Given the description of an element on the screen output the (x, y) to click on. 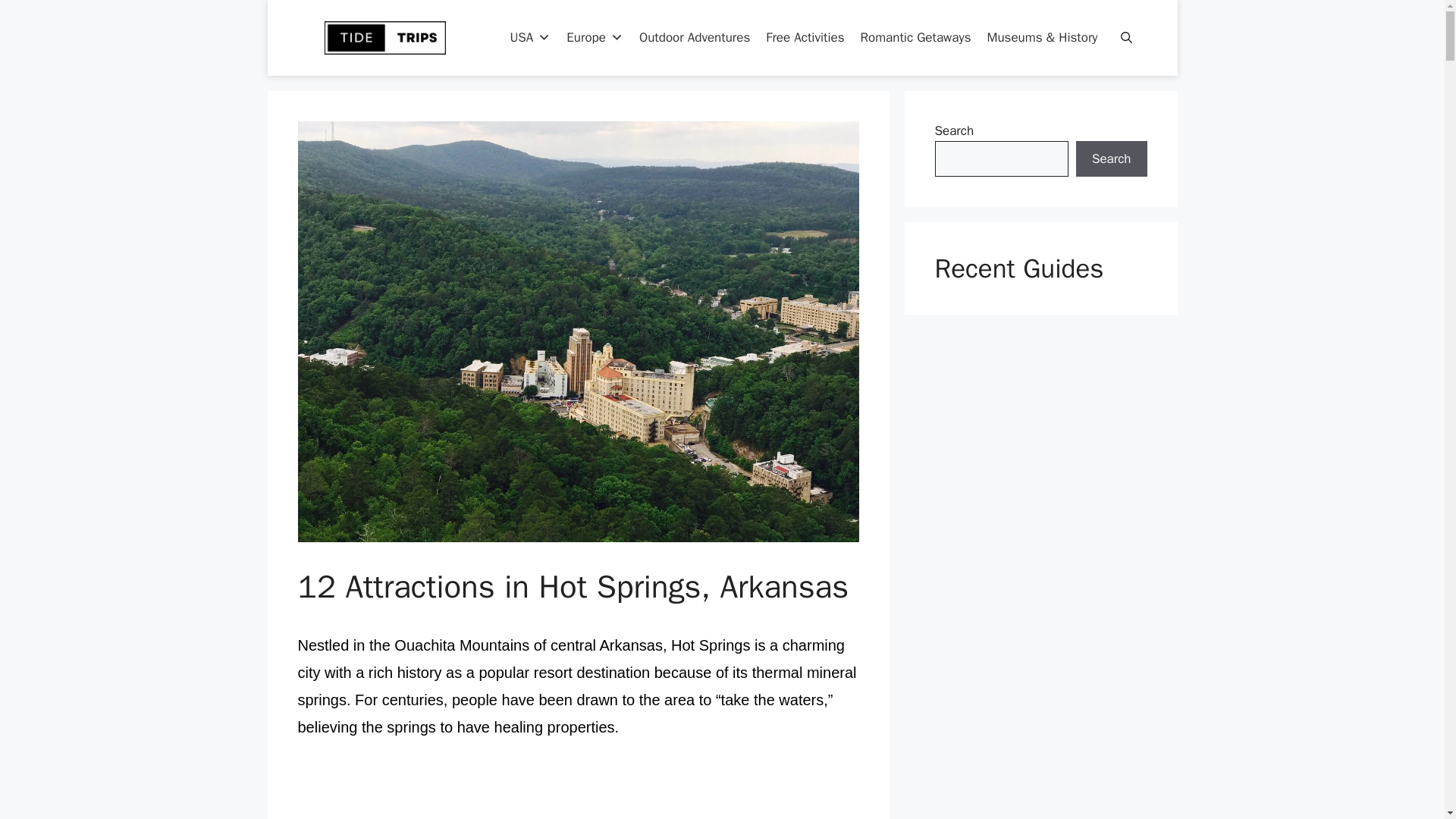
USA (529, 37)
Advertisement (578, 791)
